Given the description of an element on the screen output the (x, y) to click on. 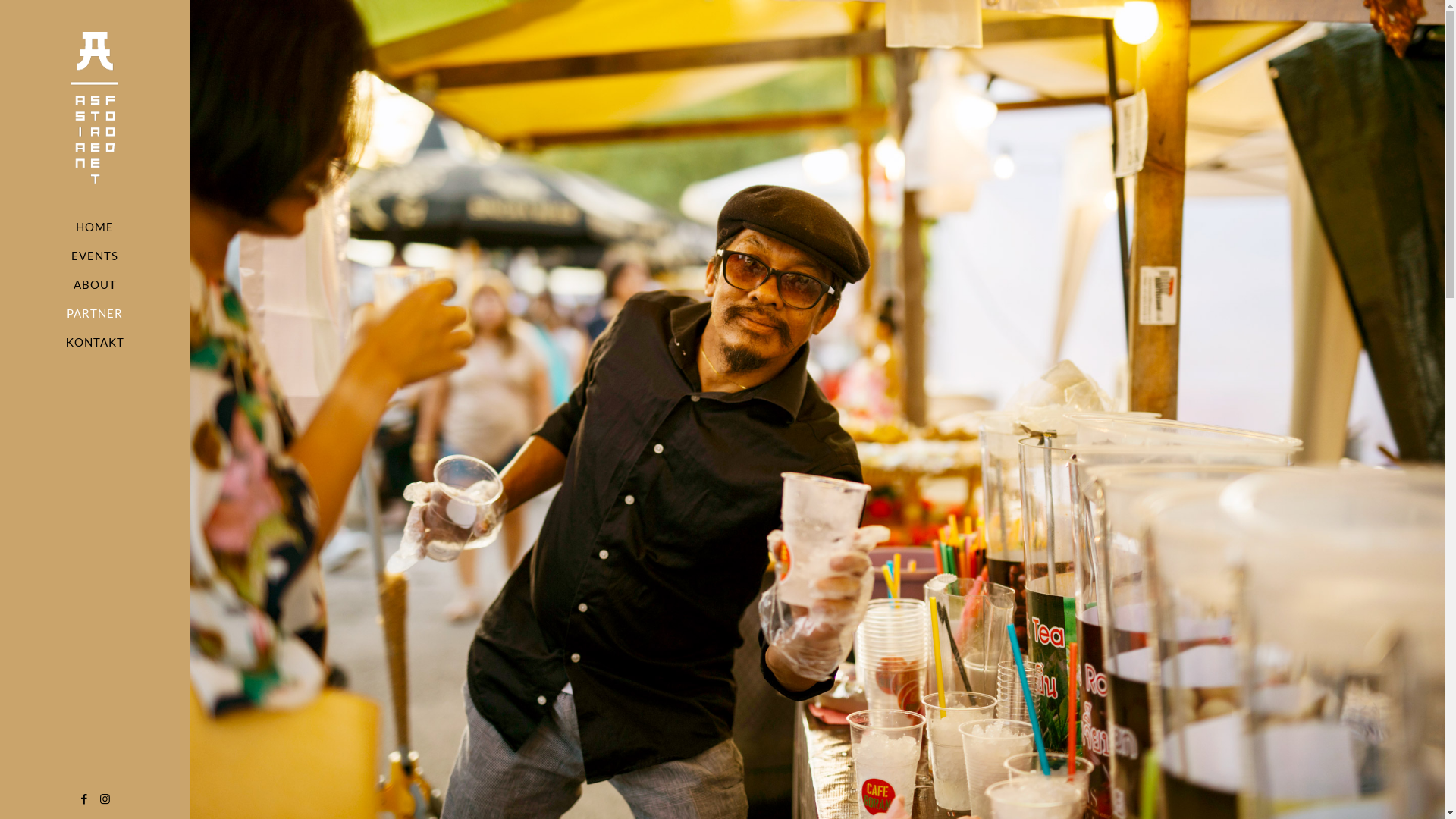
KONTAKT Element type: text (94, 341)
Instagram Element type: hover (104, 798)
EVENTS Element type: text (94, 255)
Facebook Element type: hover (84, 798)
Asian Street Food Element type: hover (94, 105)
HOME Element type: text (94, 226)
ABOUT Element type: text (94, 283)
PARTNER Element type: text (94, 312)
